Given the description of an element on the screen output the (x, y) to click on. 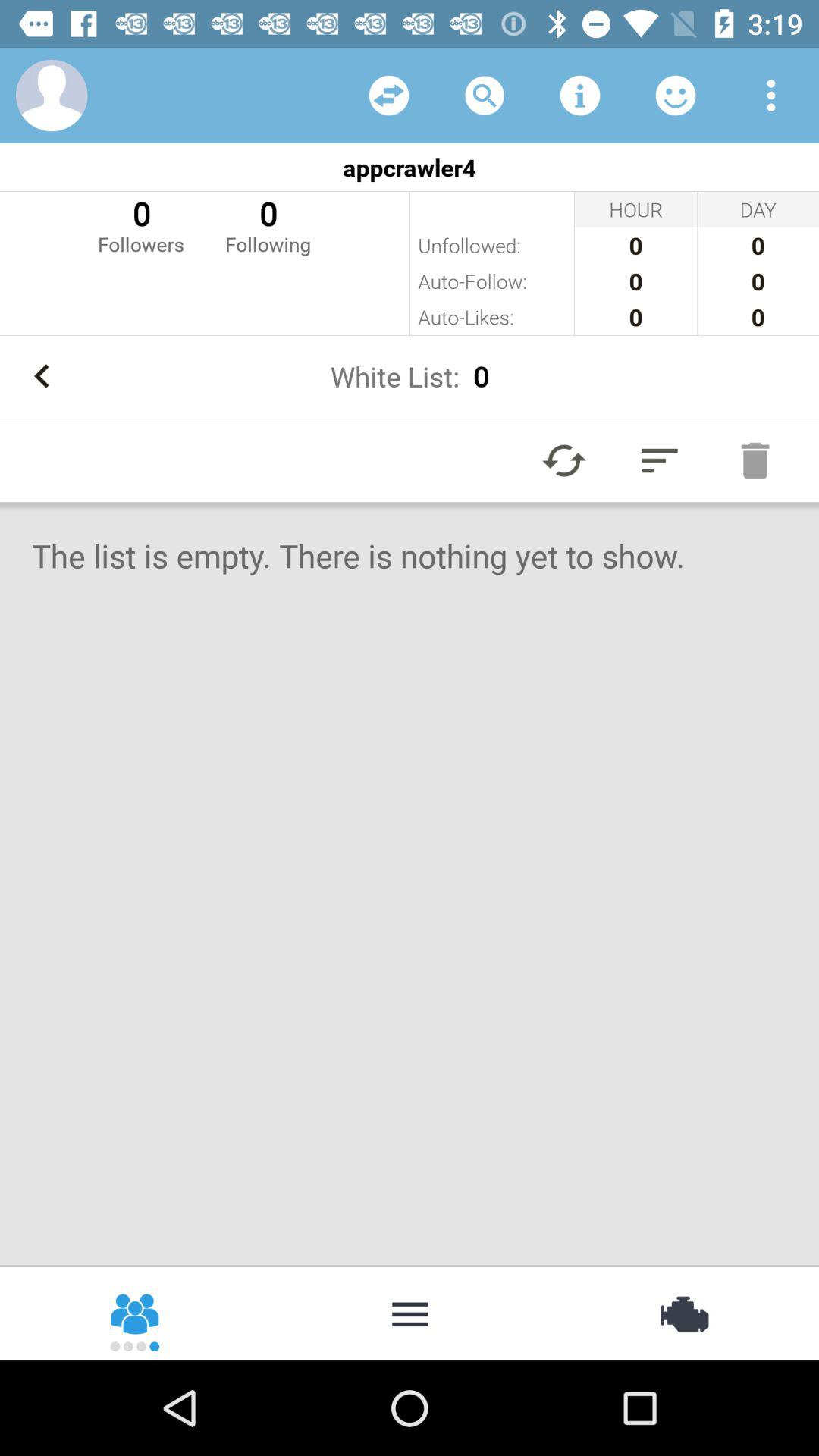
press the 0
following (268, 224)
